Given the description of an element on the screen output the (x, y) to click on. 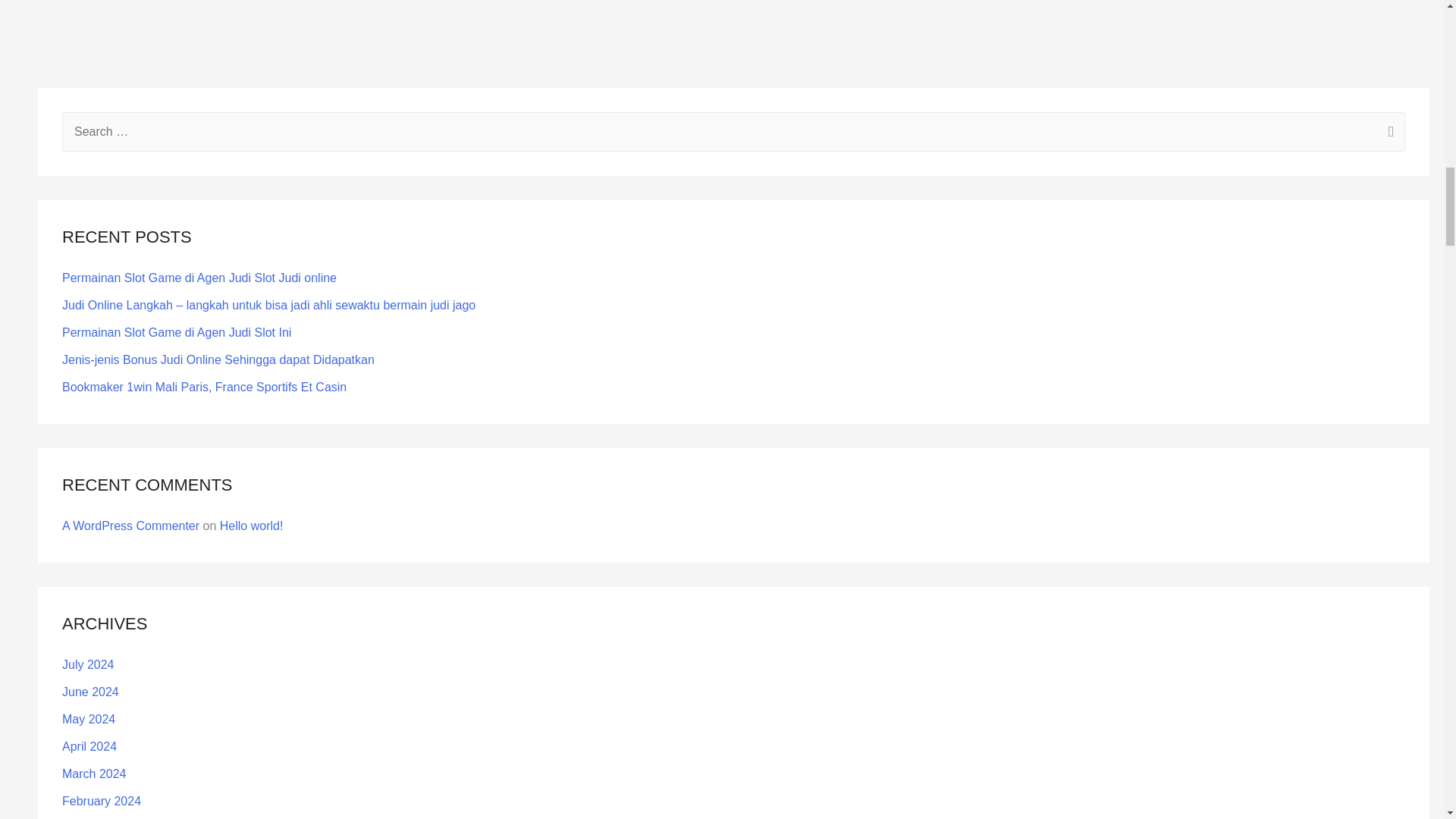
A WordPress Commenter (130, 525)
April 2024 (89, 746)
July 2024 (88, 664)
Permainan Slot Game di Agen Judi Slot Ini (176, 332)
Bookmaker 1win Mali Paris, France Sportifs Et Casin (204, 386)
May 2024 (88, 718)
Hello world! (251, 525)
March 2024 (94, 773)
Permainan Slot Game di Agen Judi Slot Judi online (199, 277)
Jenis-jenis Bonus Judi Online Sehingga dapat Didapatkan (218, 359)
June 2024 (90, 691)
February 2024 (101, 800)
